Given the description of an element on the screen output the (x, y) to click on. 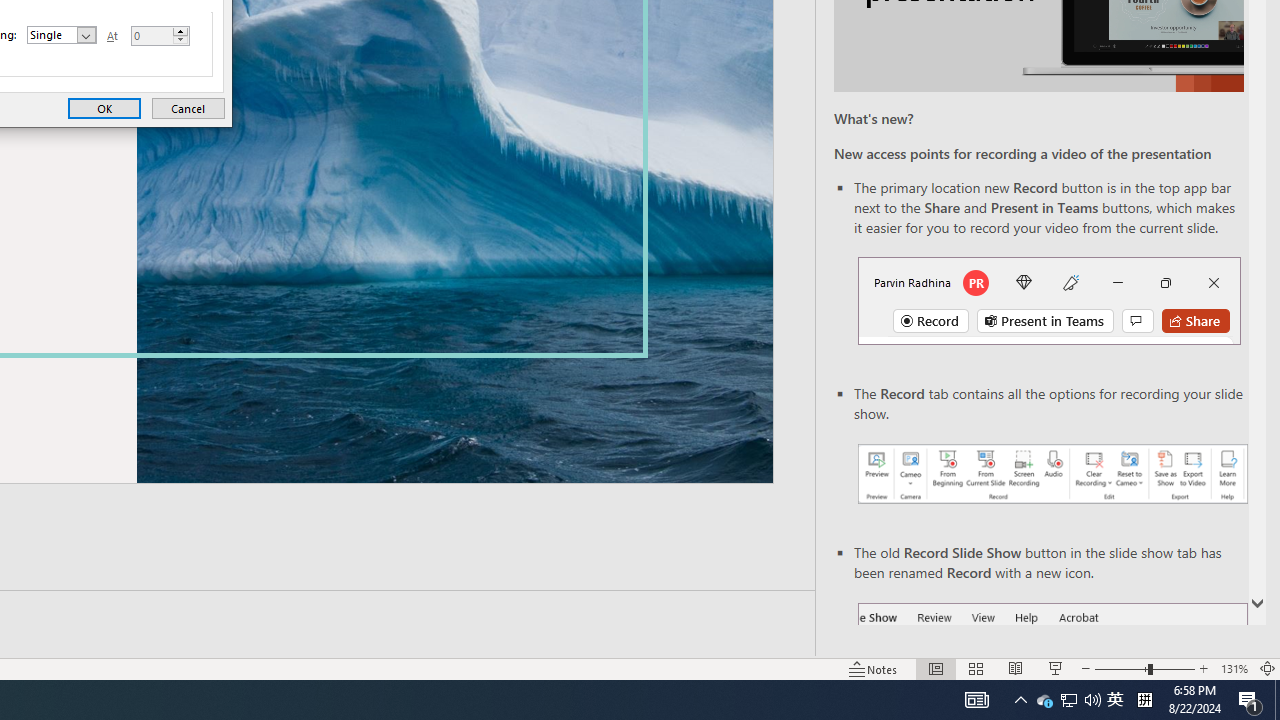
At (159, 35)
Zoom 131% (1234, 668)
Cancel (188, 108)
